Given the description of an element on the screen output the (x, y) to click on. 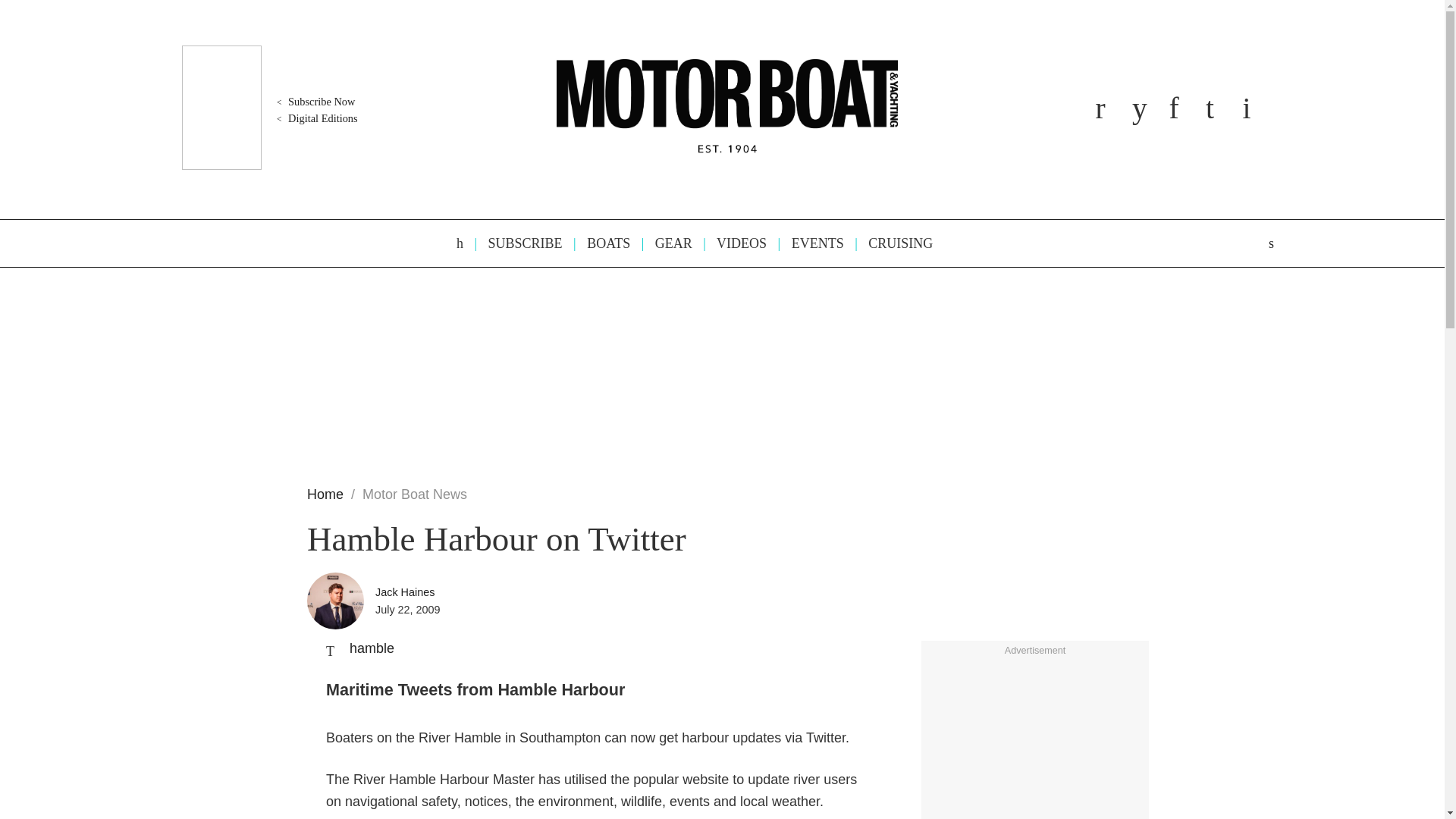
SUBSCRIBE (518, 243)
GEAR (666, 243)
EVENTS (810, 243)
CRUISING (893, 243)
BOATS (601, 243)
Digital Editions (315, 118)
VIDEOS (734, 243)
Subscribe Now (314, 101)
